Given the description of an element on the screen output the (x, y) to click on. 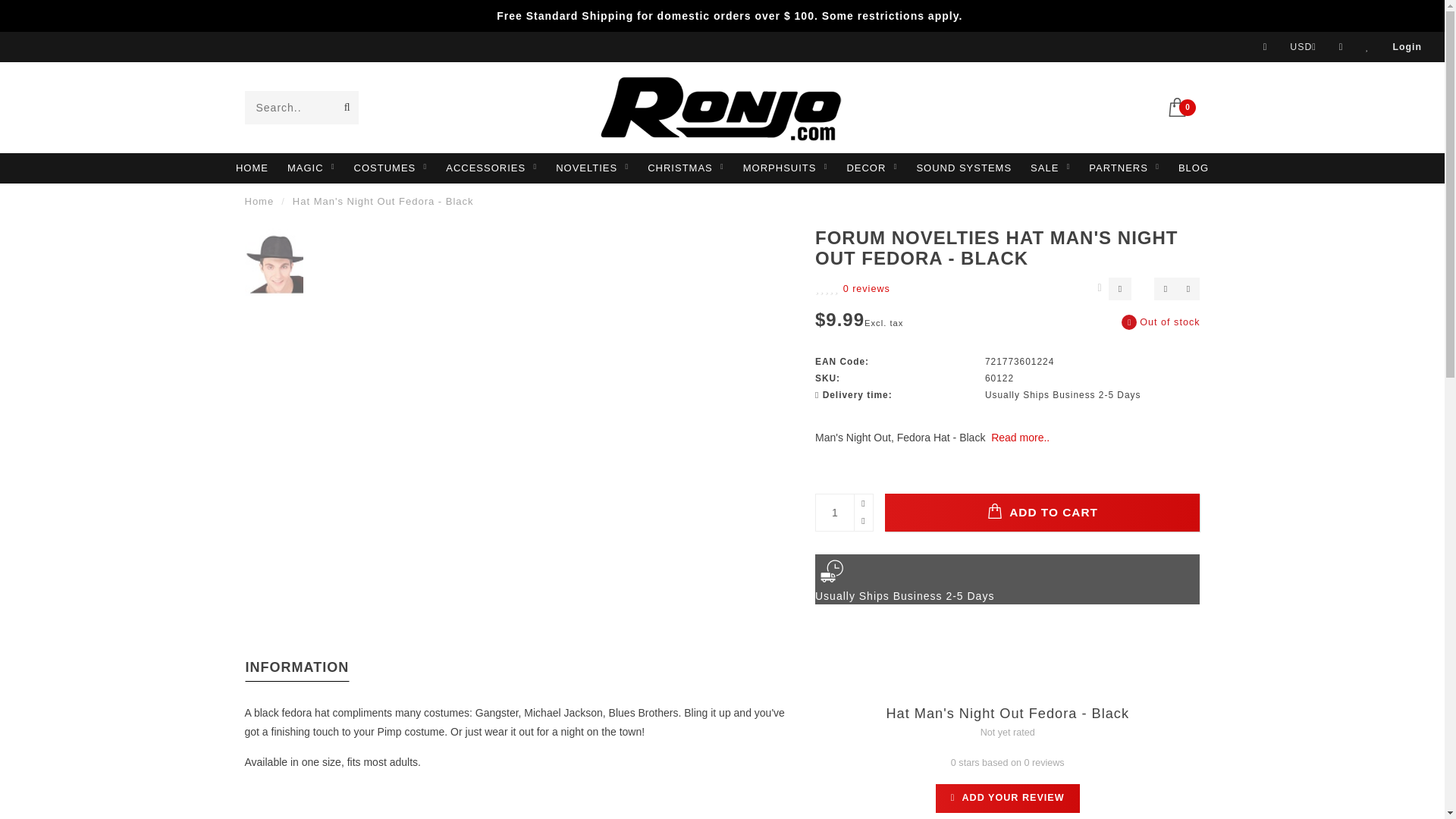
0 (1183, 105)
Home (258, 201)
HOME (251, 168)
Add your review (1008, 798)
Add to wishlist (1165, 288)
1 (843, 512)
MAGIC (310, 168)
Add to compare (1187, 288)
Login (1406, 46)
